Given the description of an element on the screen output the (x, y) to click on. 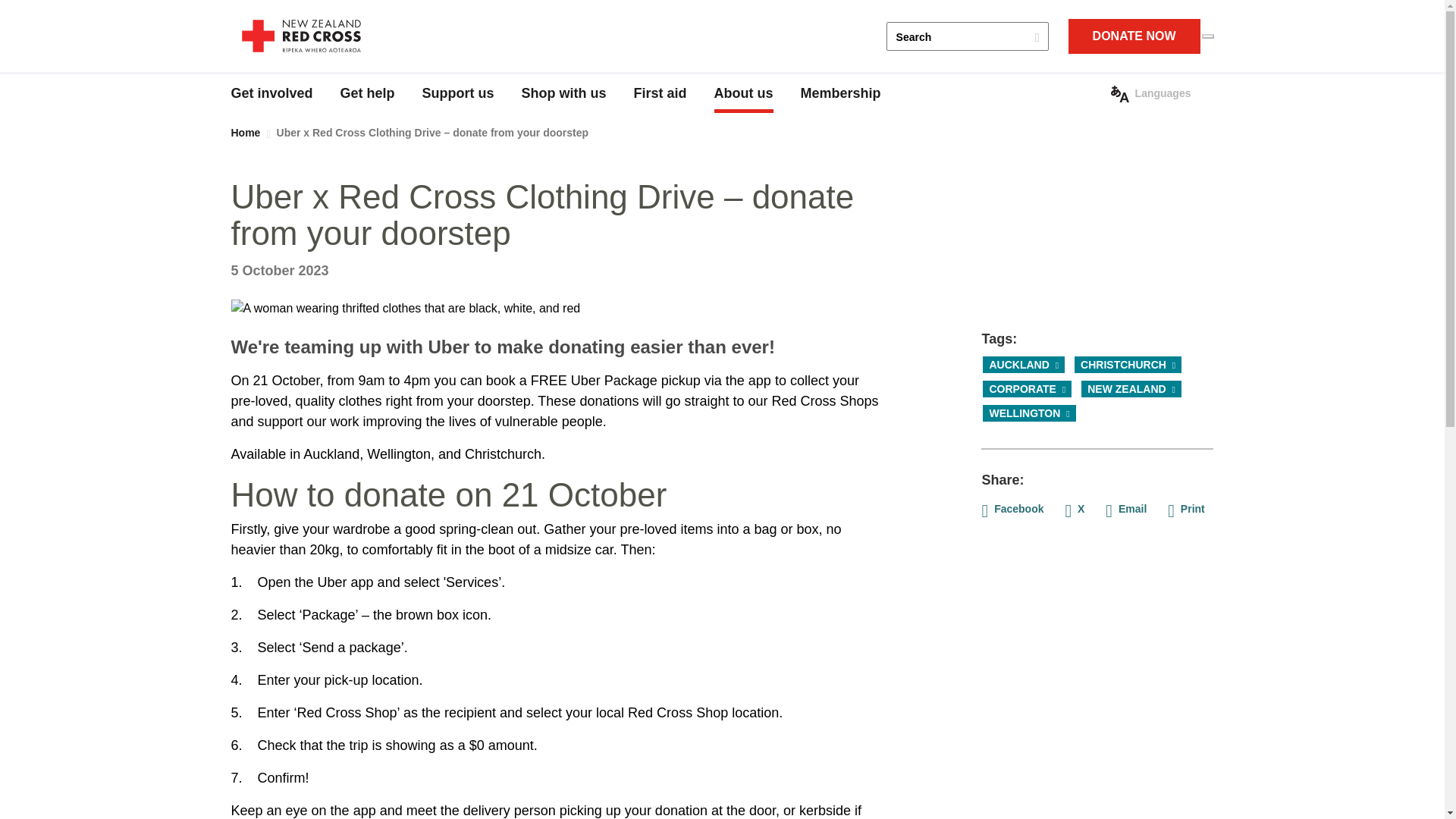
New Zealand (1131, 388)
Auckland (1023, 364)
Get help (367, 93)
Corporate (1027, 388)
Christchurch (1127, 364)
Menu (1206, 36)
Get involved (271, 93)
Home (300, 36)
DONATE NOW (1134, 36)
Wellington (1029, 413)
